Given the description of an element on the screen output the (x, y) to click on. 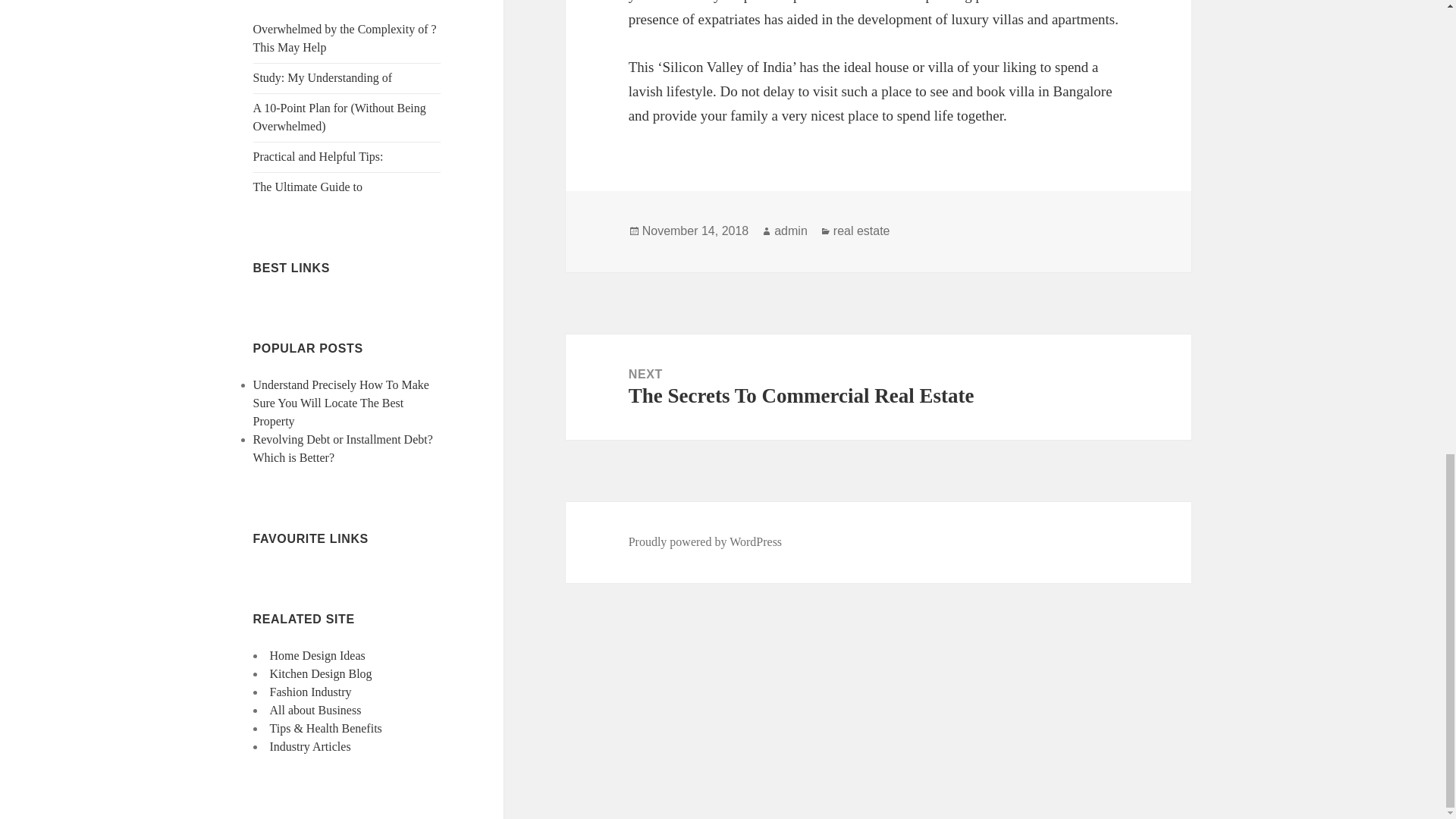
All about Business (315, 709)
Industry Articles (309, 746)
Fashion Industry (310, 691)
Practical and Helpful Tips: (318, 155)
Revolving Debt or Installment Debt? Which is Better? (342, 448)
Overwhelmed by the Complexity of ? This May Help (344, 38)
admin (791, 231)
Home Design Ideas (317, 655)
